Given the description of an element on the screen output the (x, y) to click on. 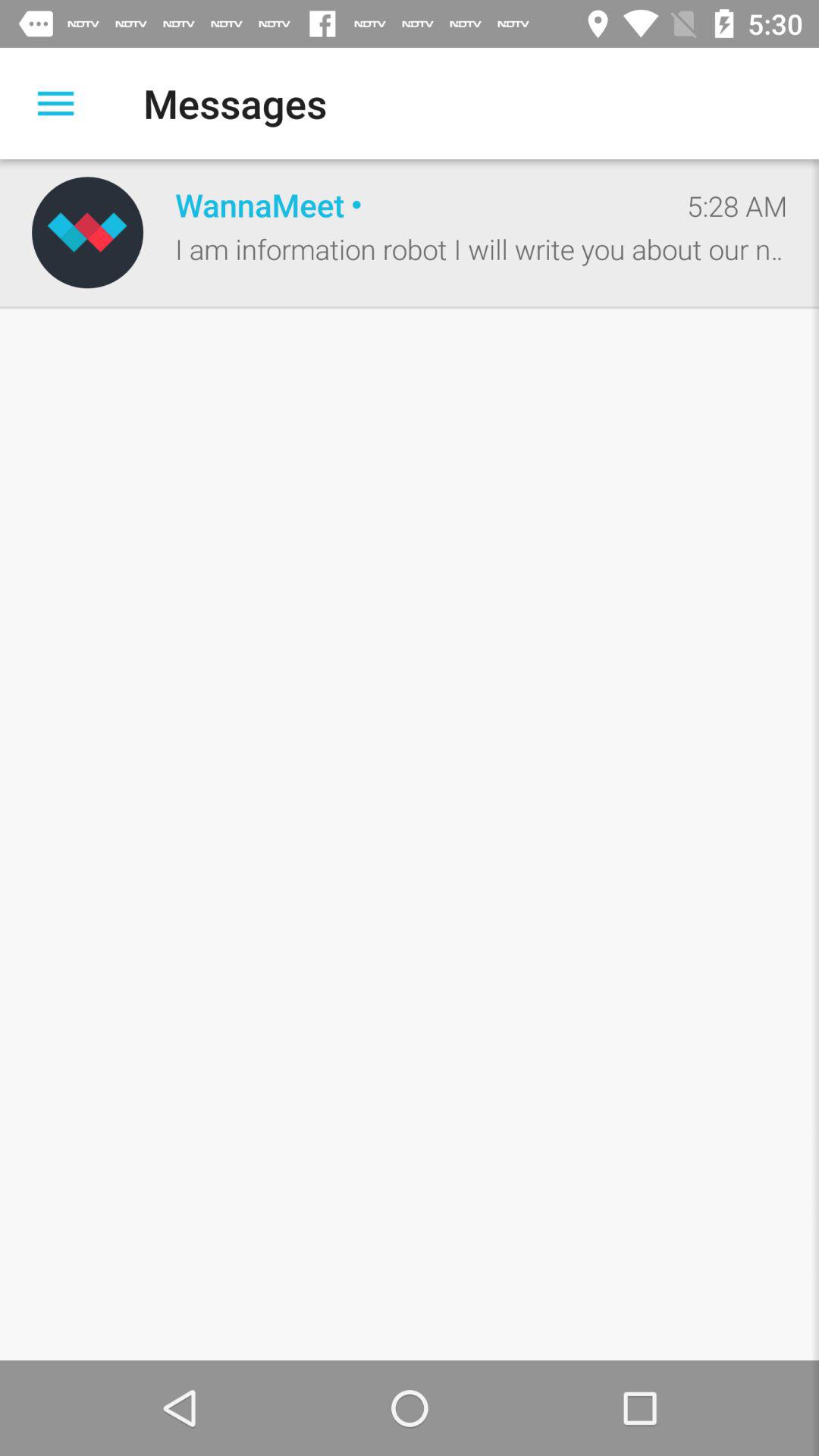
turn off wannameet   icon (415, 204)
